Given the description of an element on the screen output the (x, y) to click on. 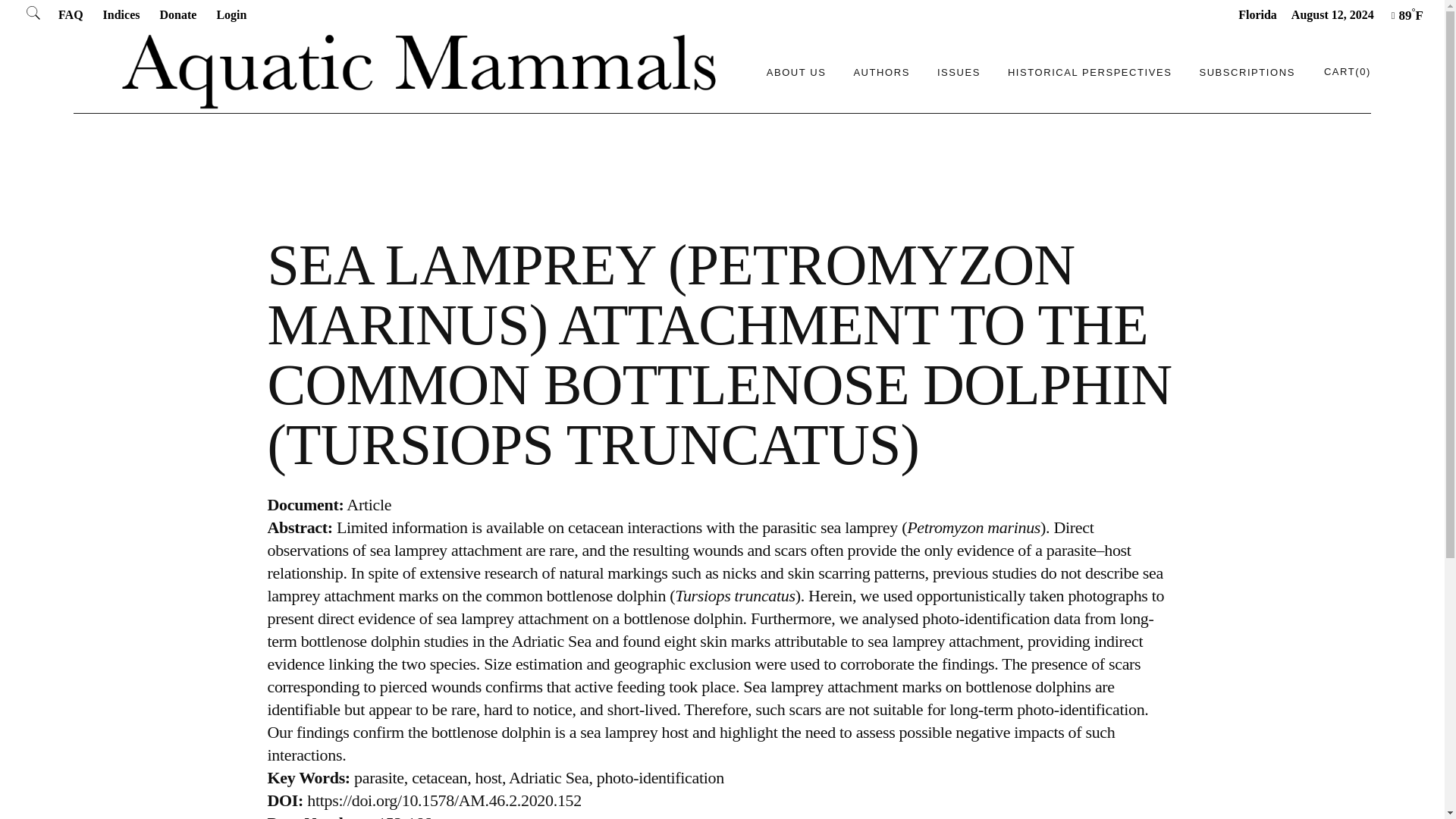
Indices (121, 14)
Donate (177, 14)
FAQ (70, 14)
HISTORICAL PERSPECTIVES (1089, 71)
Login (230, 14)
